Given the description of an element on the screen output the (x, y) to click on. 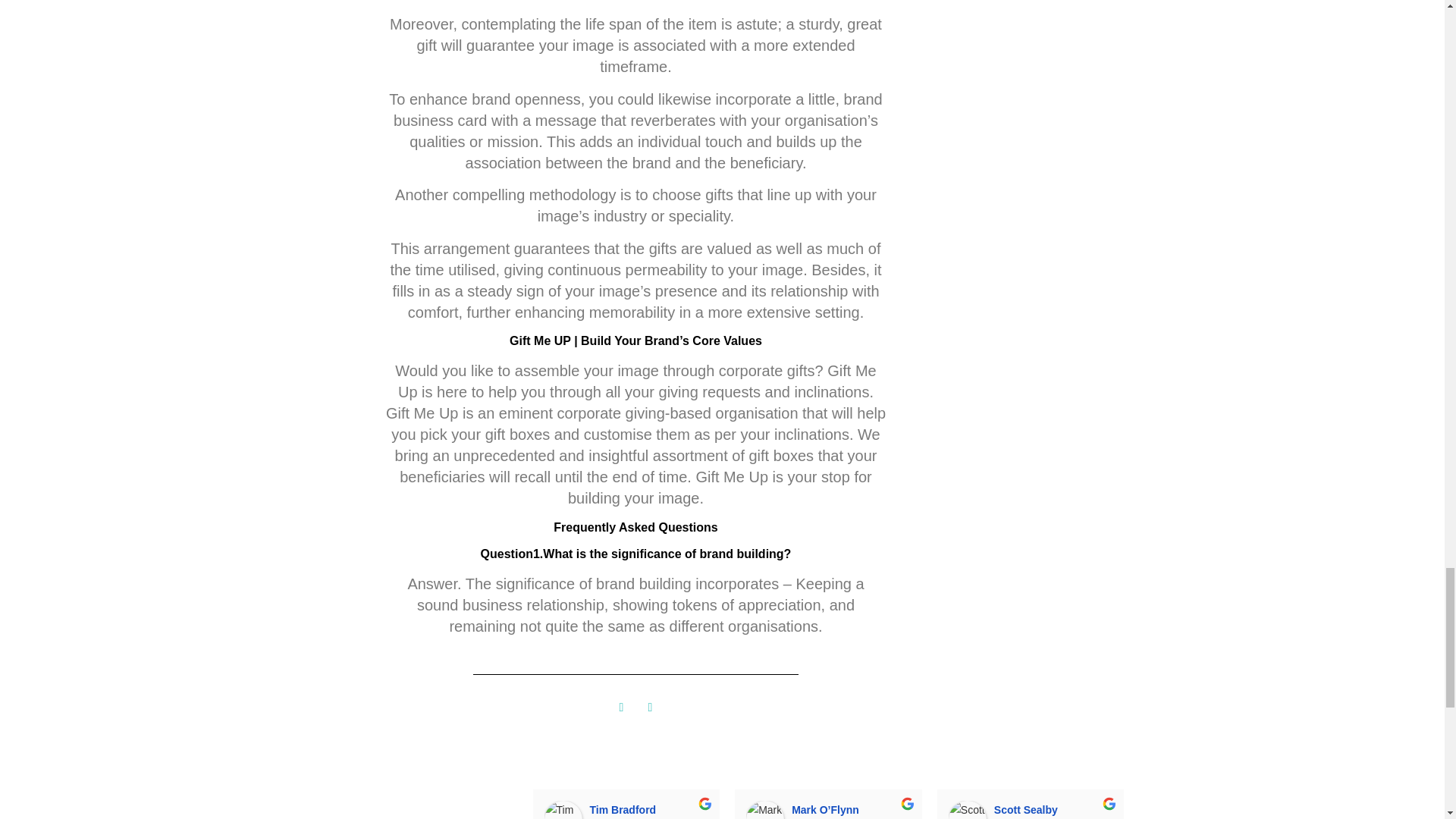
Scott Sealby (968, 809)
Mark O'Flynn (764, 809)
Tim Bradford (563, 809)
Darren Sharpe (1169, 809)
Tanyel Ozcan (1371, 809)
